Given the description of an element on the screen output the (x, y) to click on. 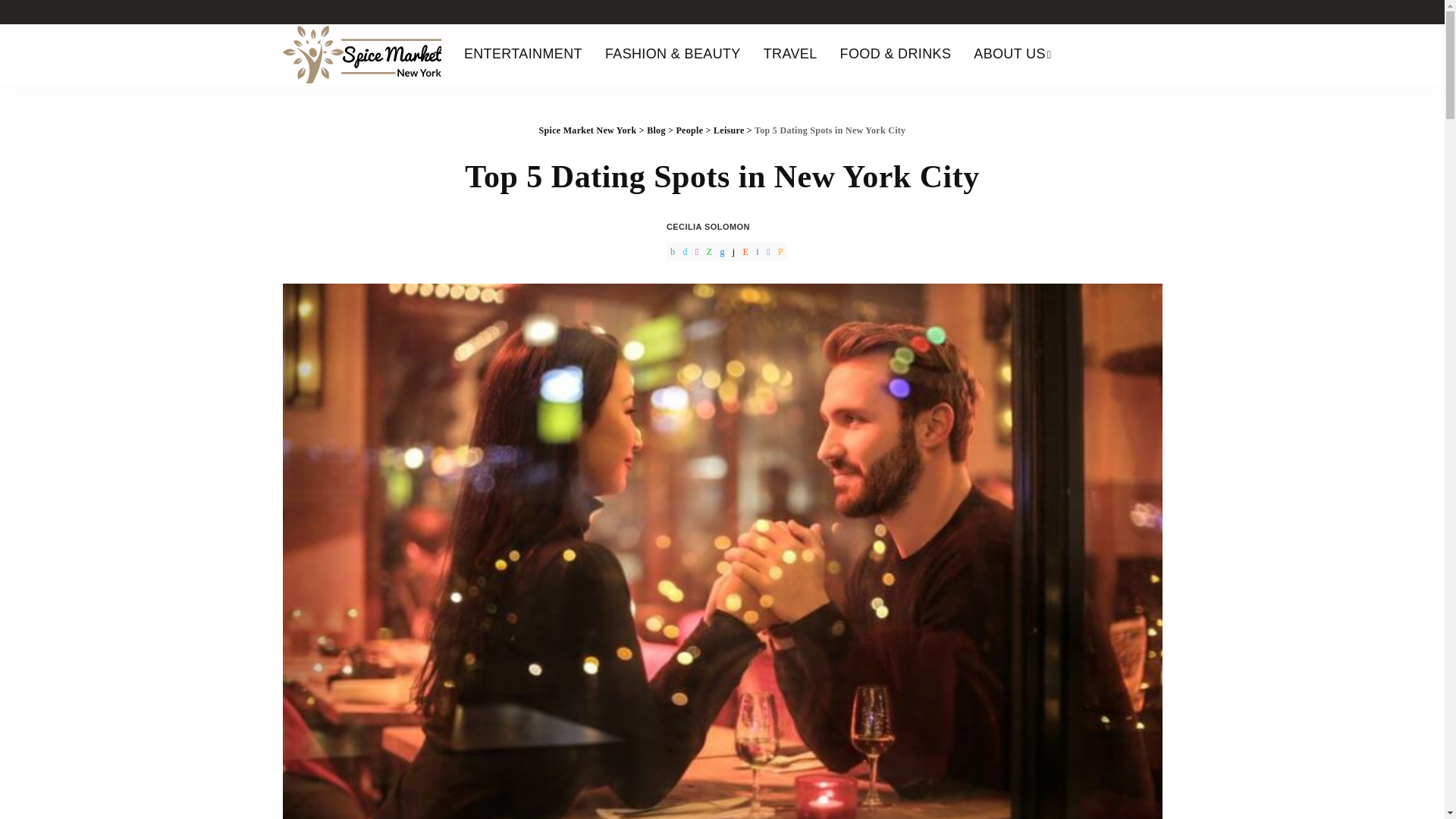
ENTERTAINMENT (523, 54)
Spice Market New York (361, 54)
TRAVEL (790, 54)
